Given the description of an element on the screen output the (x, y) to click on. 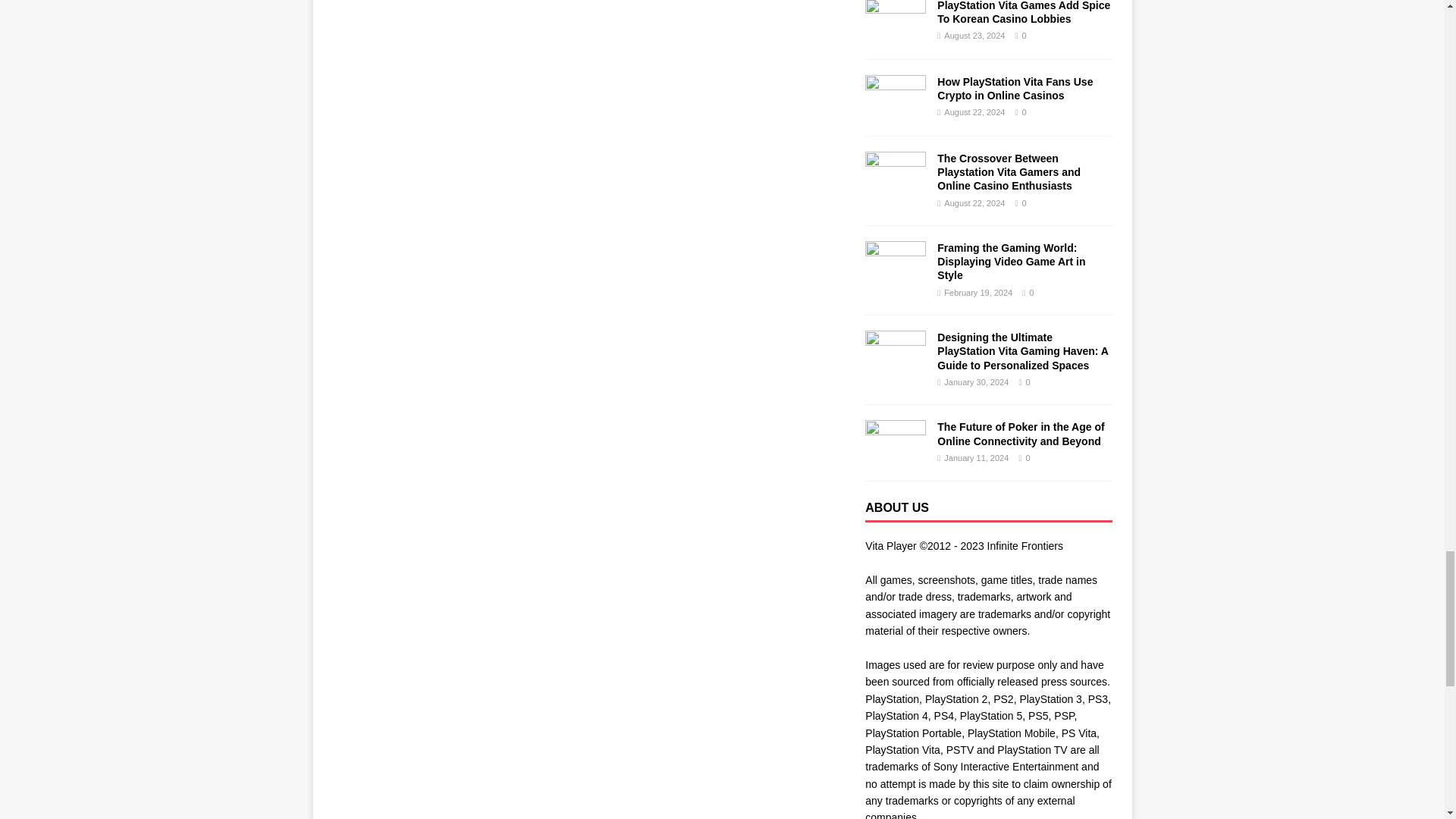
How PlayStation Vita Fans Use Crypto in Online Casinos (895, 111)
PlayStation Vita Games Add Spice To Korean Casino Lobbies (1023, 12)
PlayStation Vita Games Add Spice To Korean Casino Lobbies (895, 35)
